Given the description of an element on the screen output the (x, y) to click on. 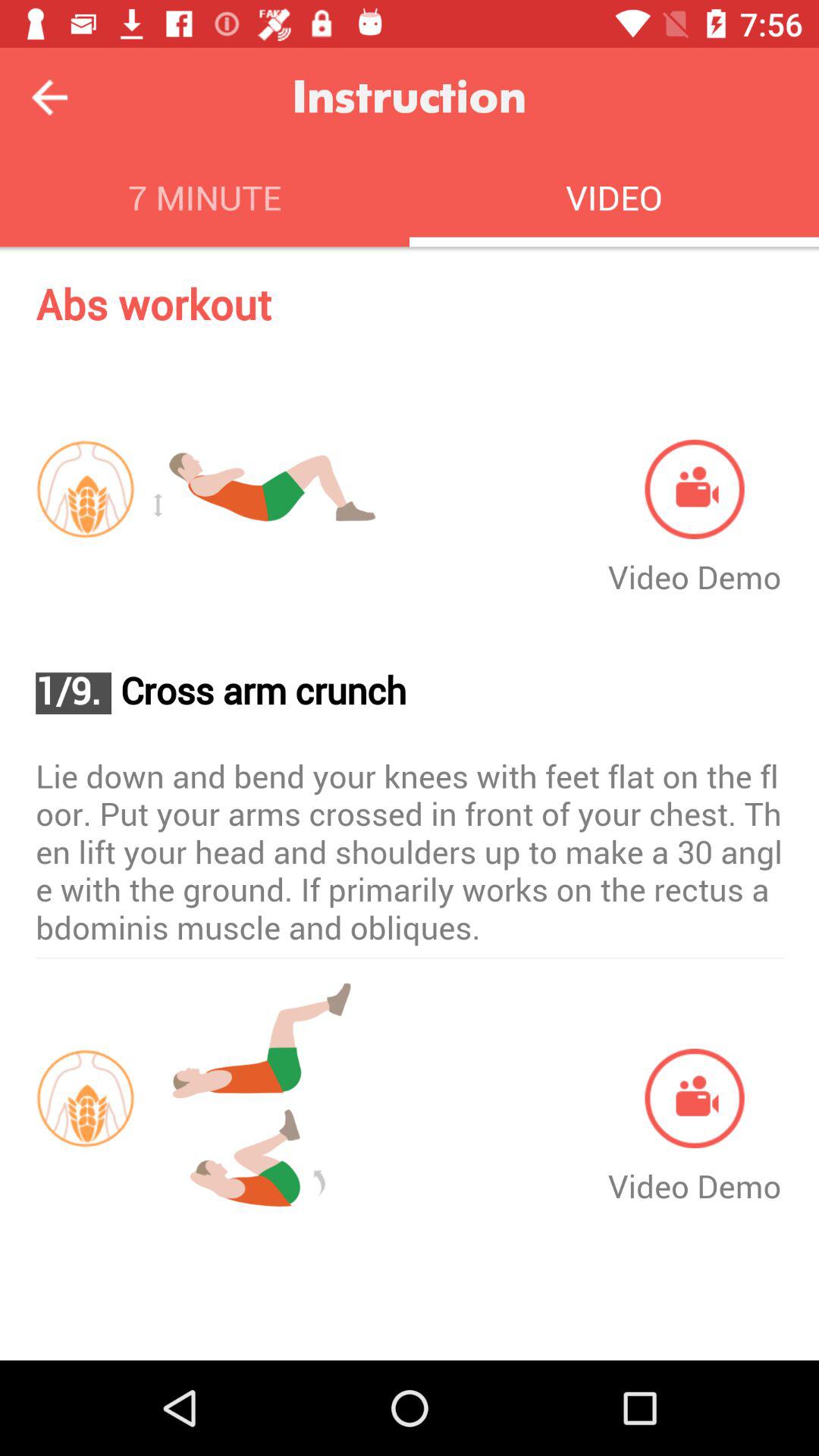
go back (49, 97)
